Given the description of an element on the screen output the (x, y) to click on. 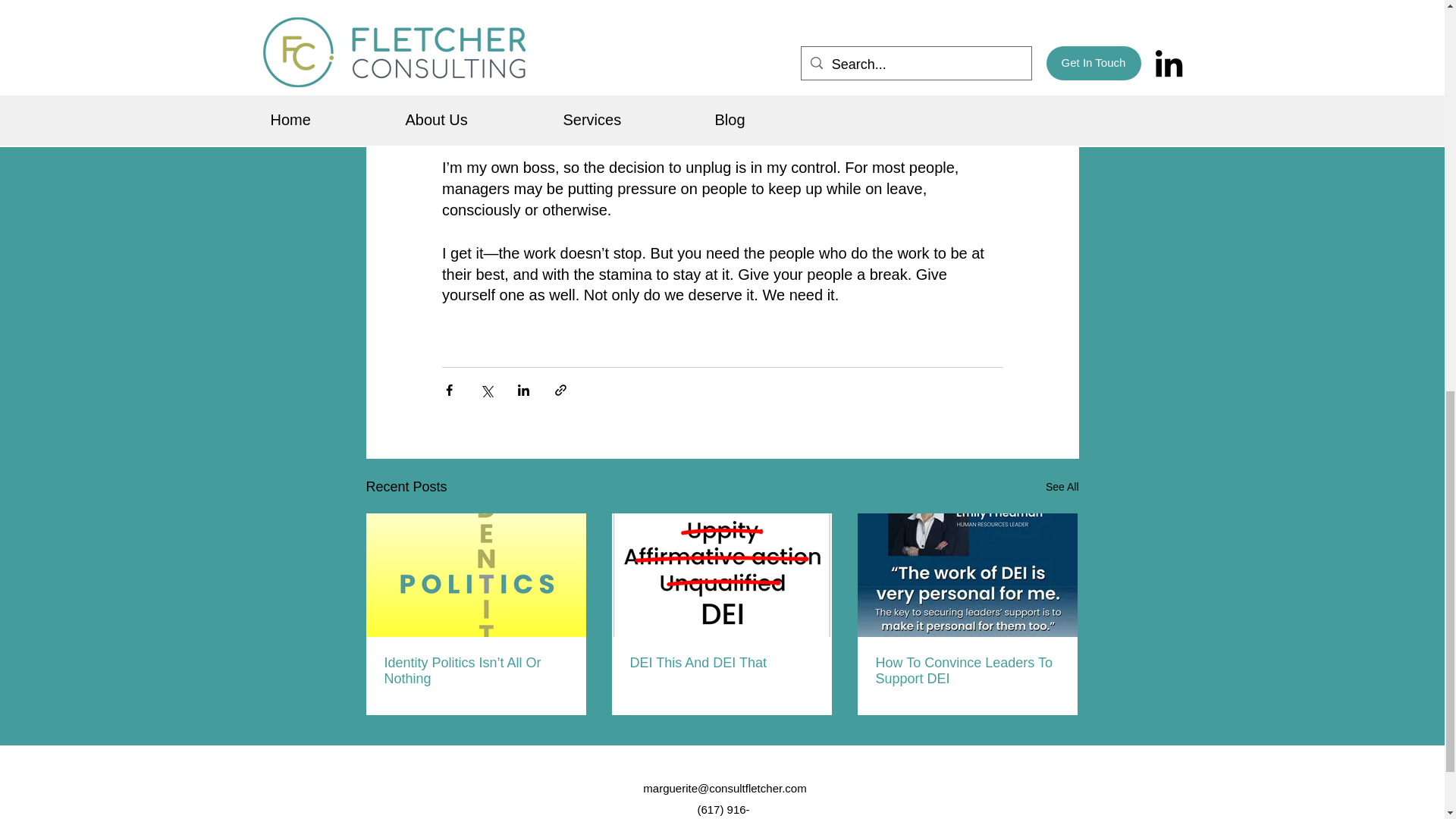
How To Convince Leaders To Support DEI (966, 671)
DEI This And DEI That (720, 662)
See All (1061, 486)
